Given the description of an element on the screen output the (x, y) to click on. 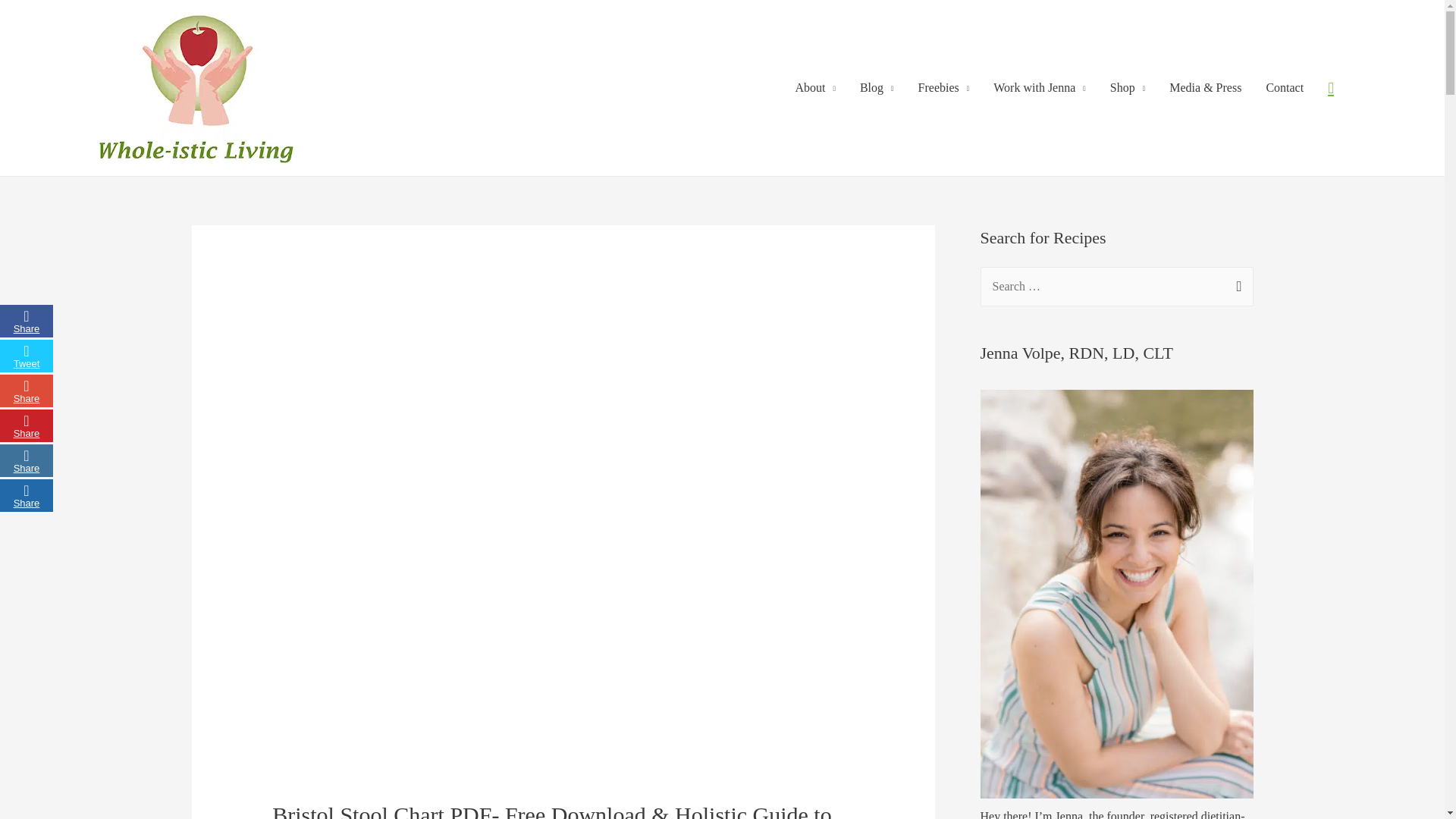
Search (1236, 282)
Search (1236, 282)
